Given the description of an element on the screen output the (x, y) to click on. 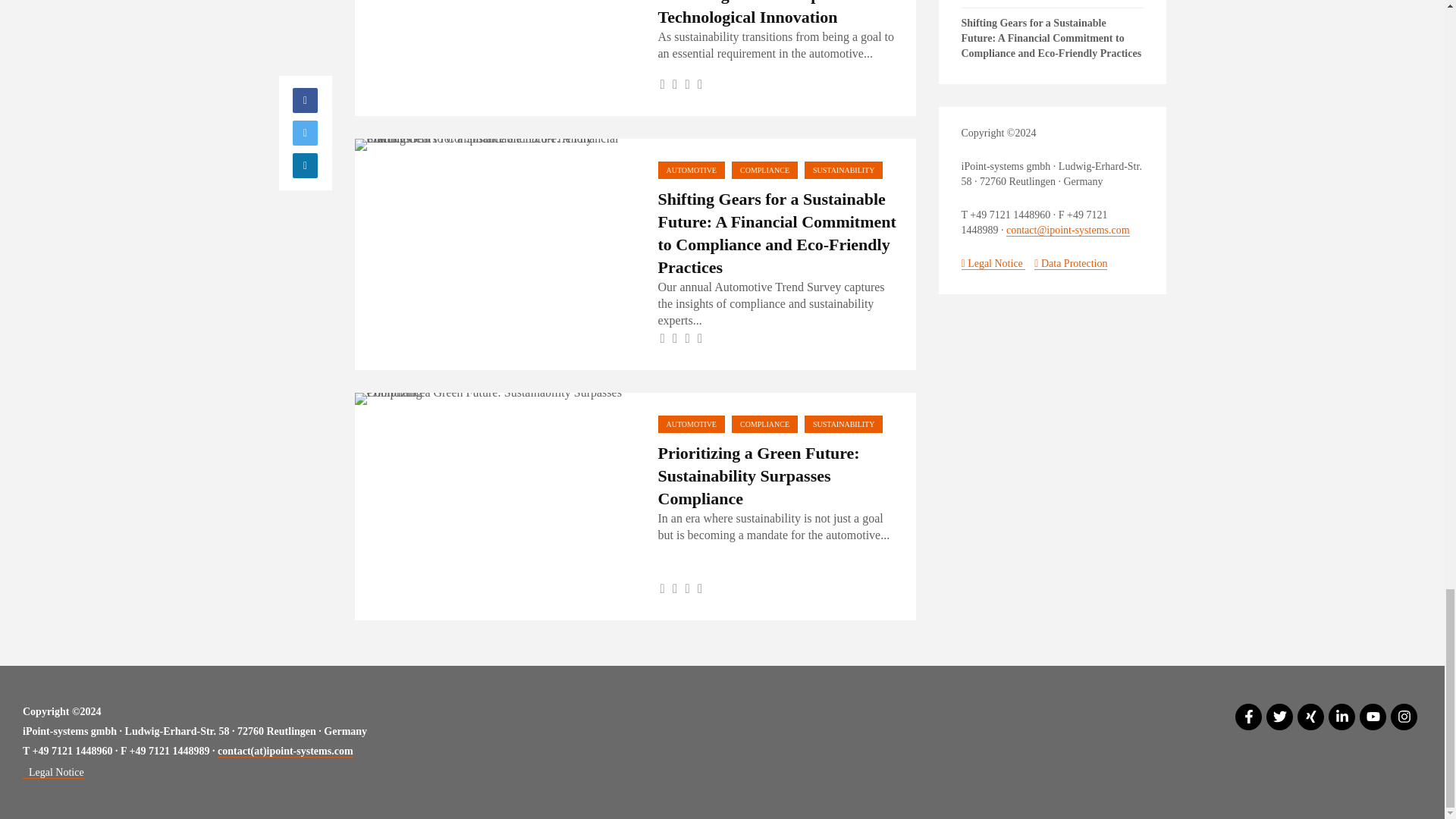
COMPLIANCE (764, 170)
SUSTAINABILITY (843, 170)
AUTOMOTIVE (691, 170)
